Given the description of an element on the screen output the (x, y) to click on. 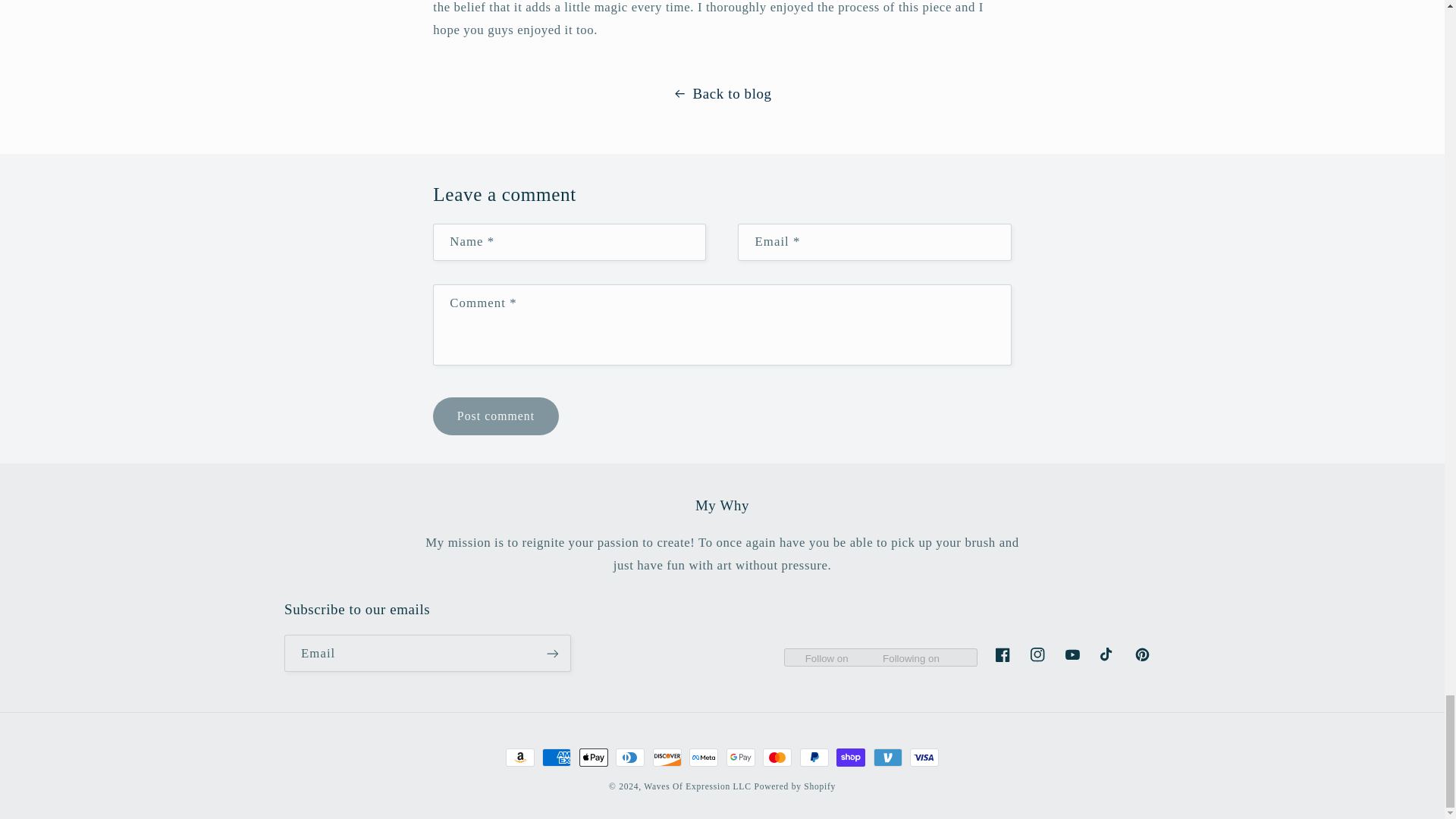
Post comment (494, 415)
